Given the description of an element on the screen output the (x, y) to click on. 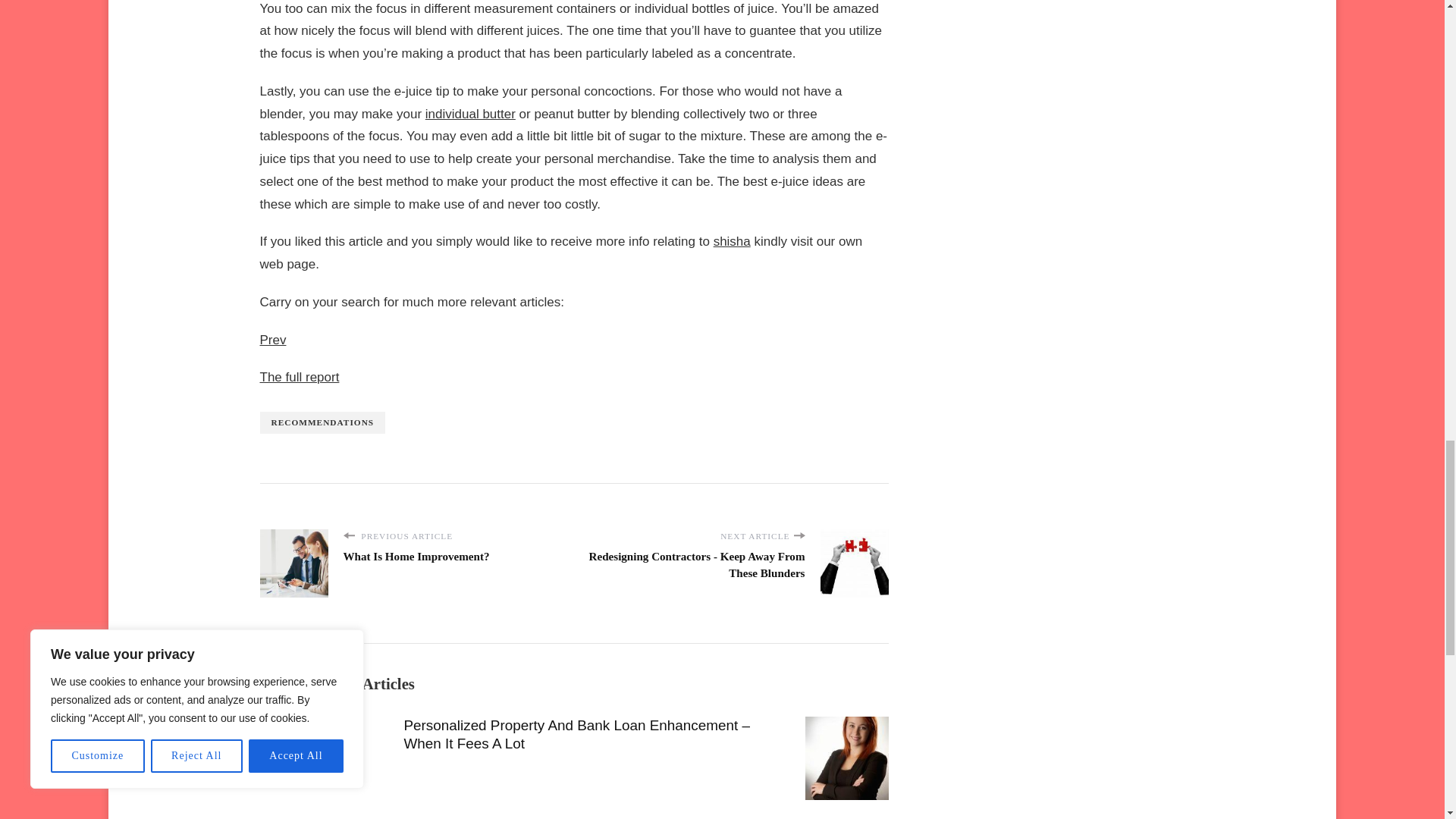
shisha (732, 241)
RECOMMENDATIONS (322, 422)
GENERAL (283, 722)
individual butter (470, 114)
The full report (299, 377)
Prev (272, 339)
